Given the description of an element on the screen output the (x, y) to click on. 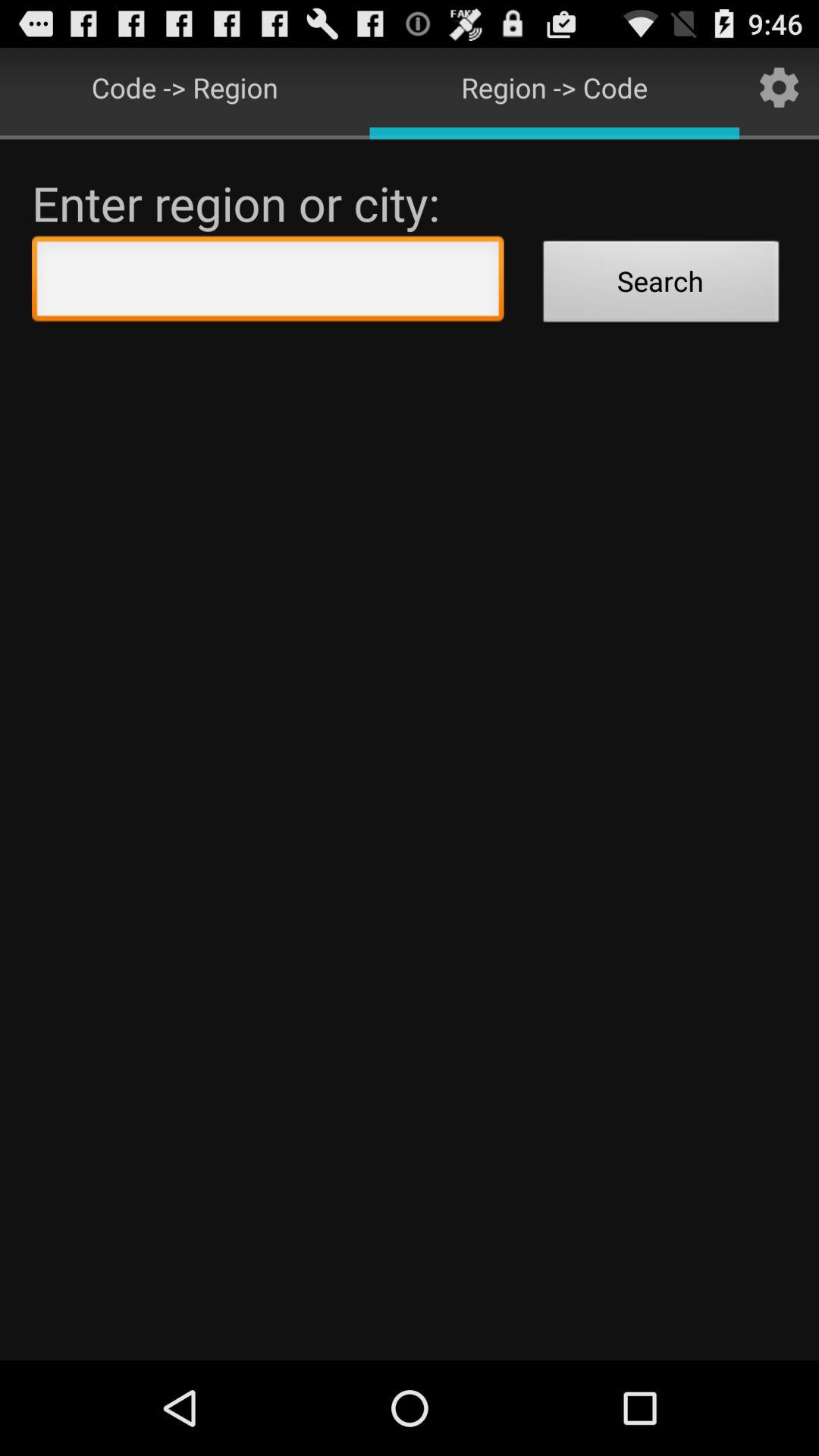
select button to the right of the region -> code button (779, 87)
